Given the description of an element on the screen output the (x, y) to click on. 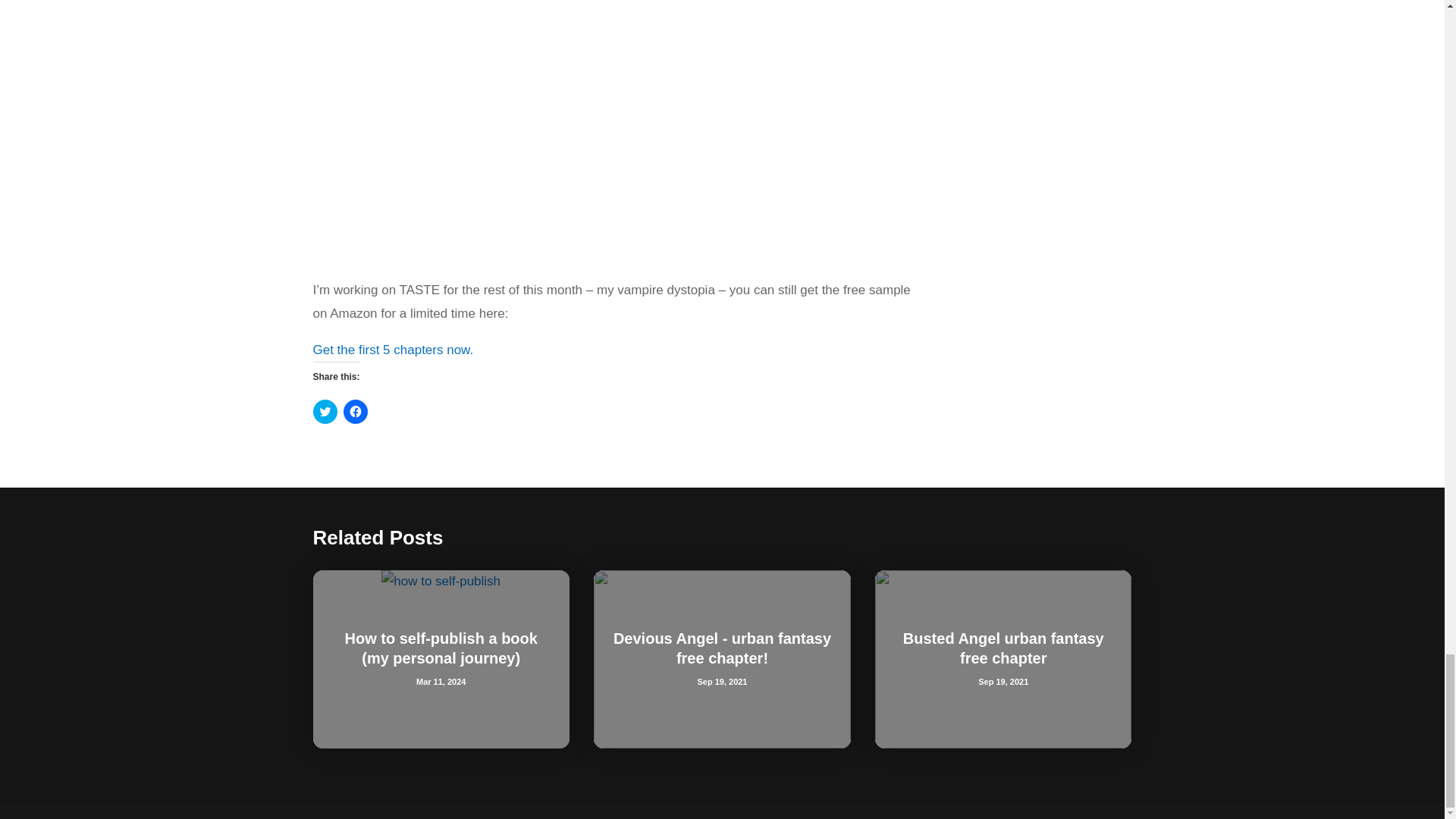
Click to share on Twitter (324, 411)
Get the first 5 chapters now. (393, 350)
Busted Angel urban fantasy free chapter (1002, 647)
Devious Angel - urban fantasy free chapter! (721, 647)
Click to share on Facebook (354, 411)
